Given the description of an element on the screen output the (x, y) to click on. 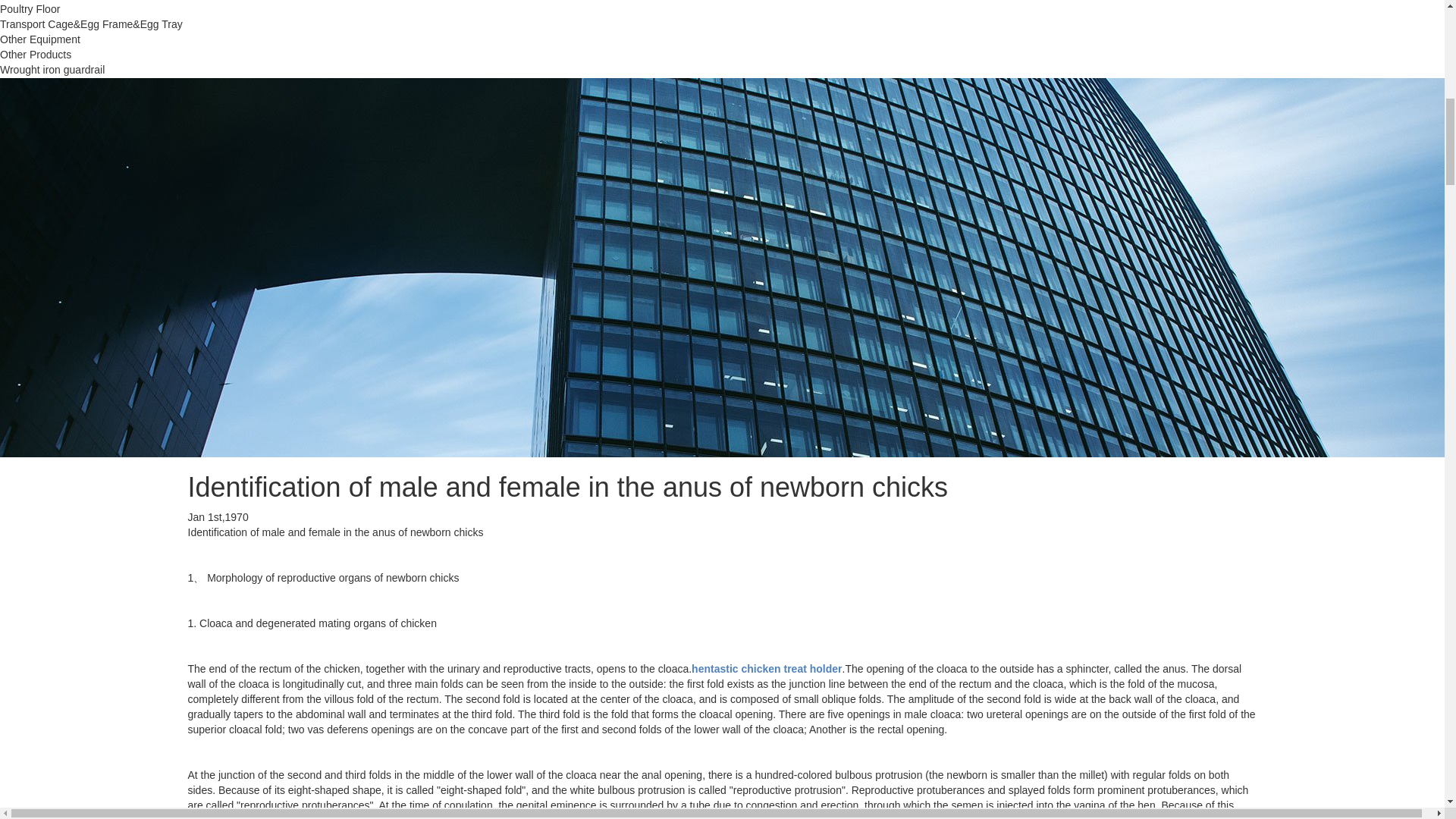
hentastic chicken treat holder (766, 668)
